Given the description of an element on the screen output the (x, y) to click on. 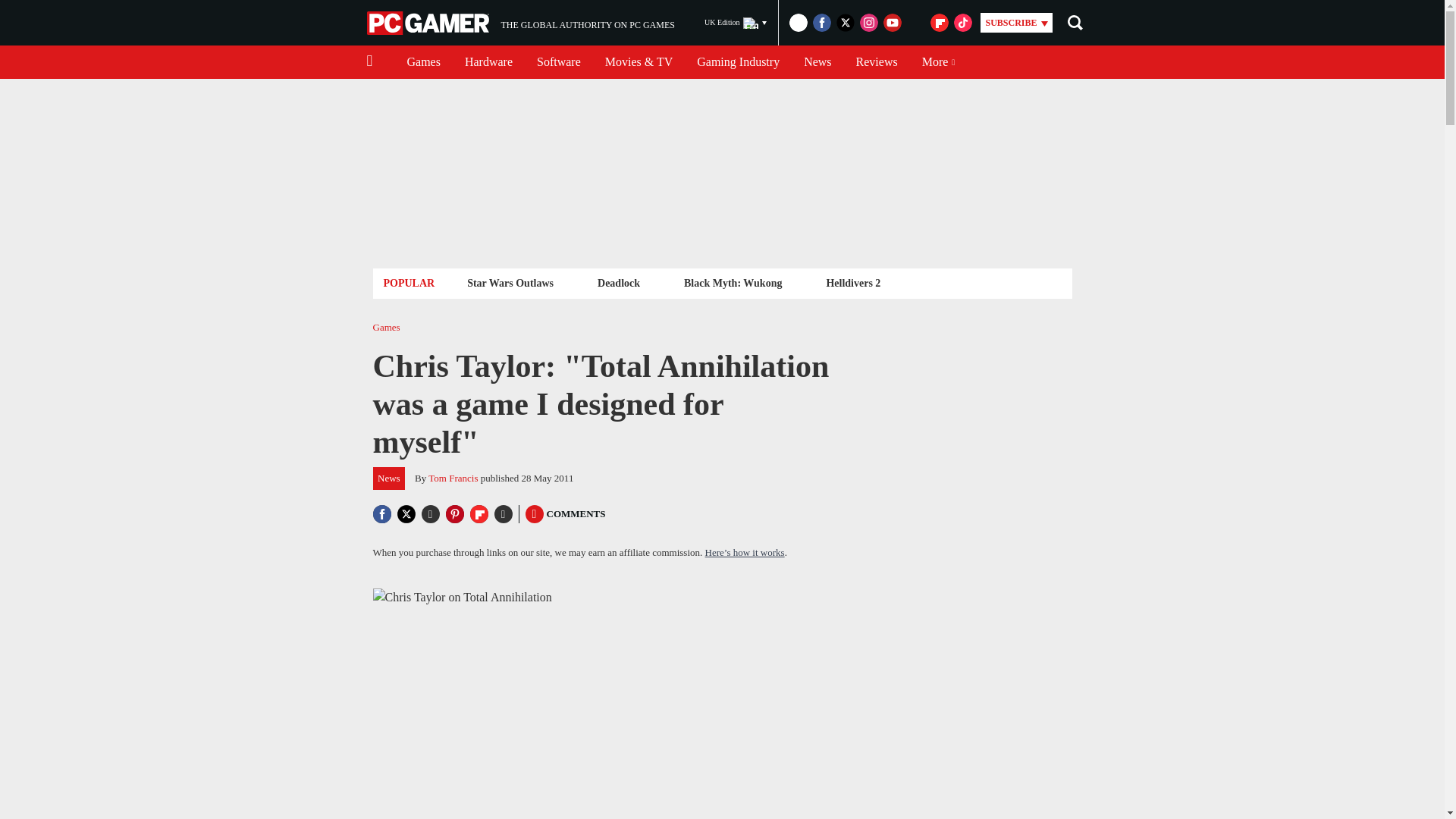
PC Gamer (429, 22)
Software (558, 61)
Star Wars Outlaws (510, 282)
News (817, 61)
Deadlock (618, 282)
UK Edition (520, 22)
Hardware (735, 22)
Games (488, 61)
Reviews (422, 61)
